Given the description of an element on the screen output the (x, y) to click on. 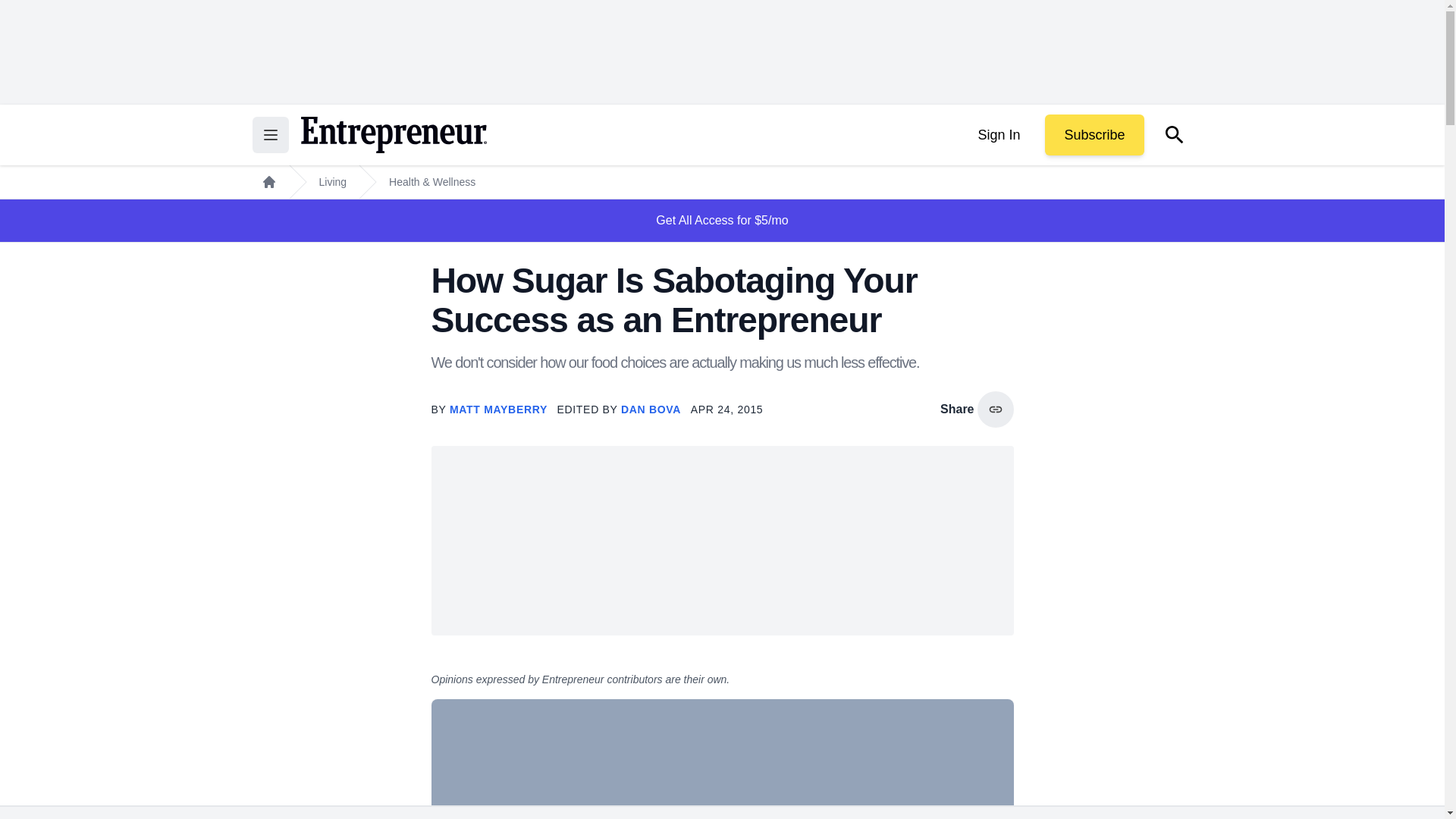
Subscribe (1093, 134)
Return to the home page (392, 135)
copy (994, 409)
Sign In (998, 134)
